Given the description of an element on the screen output the (x, y) to click on. 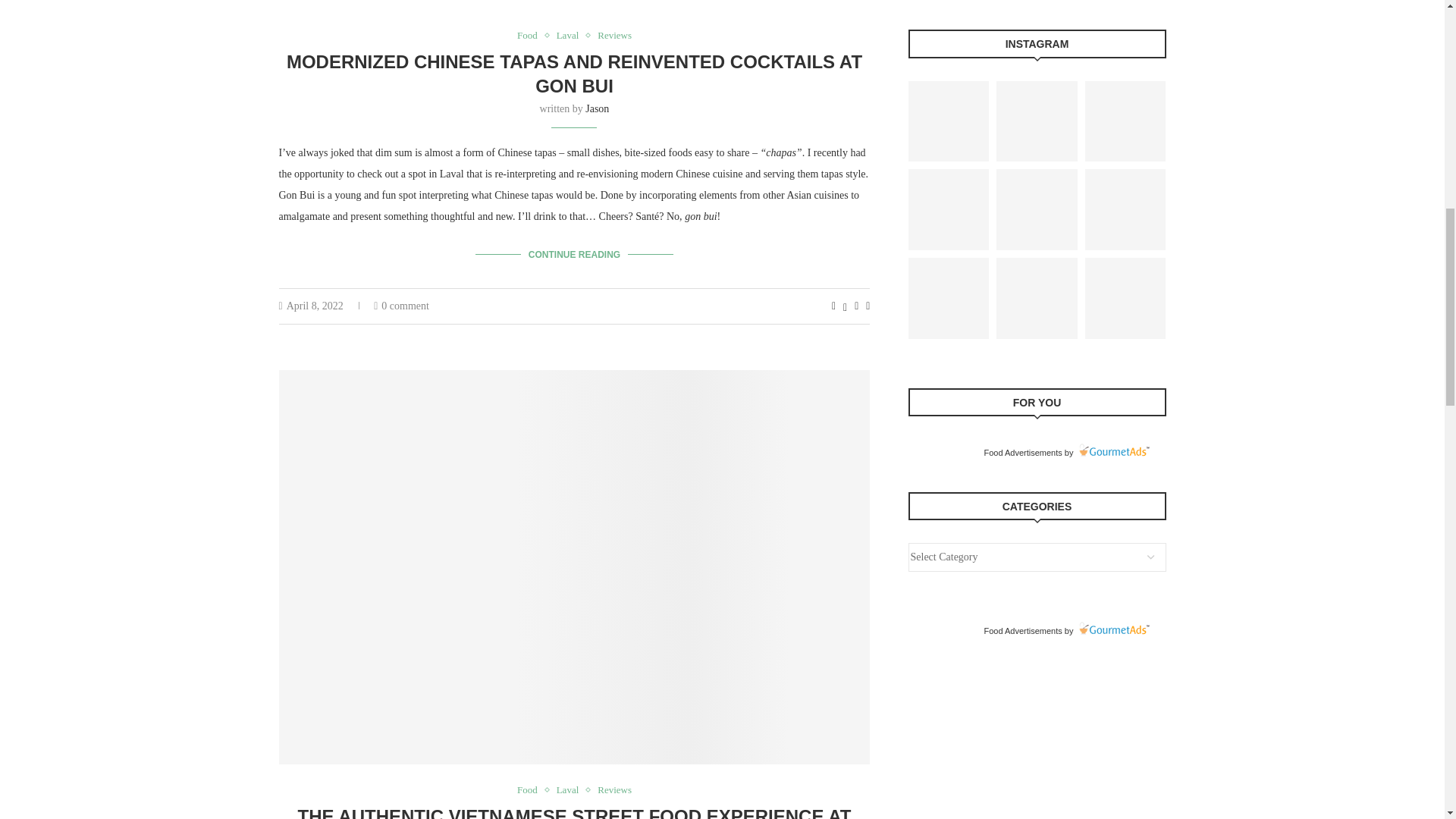
MODERNIZED CHINESE TAPAS AND REINVENTED COCKTAILS AT GON BUI (573, 73)
Wontons: in peanut butter sauce or in soup? There is... (1036, 209)
Food (530, 35)
Ice cream on a hot summer evening is a must,... (1125, 121)
Laval (571, 789)
Laval (571, 35)
Reviews (613, 789)
CONTINUE READING (574, 254)
Jason (596, 108)
0 comment (401, 306)
Food Advertisements (1022, 452)
Shoutout if you remember a time when all the burgers... (1125, 298)
